Given the description of an element on the screen output the (x, y) to click on. 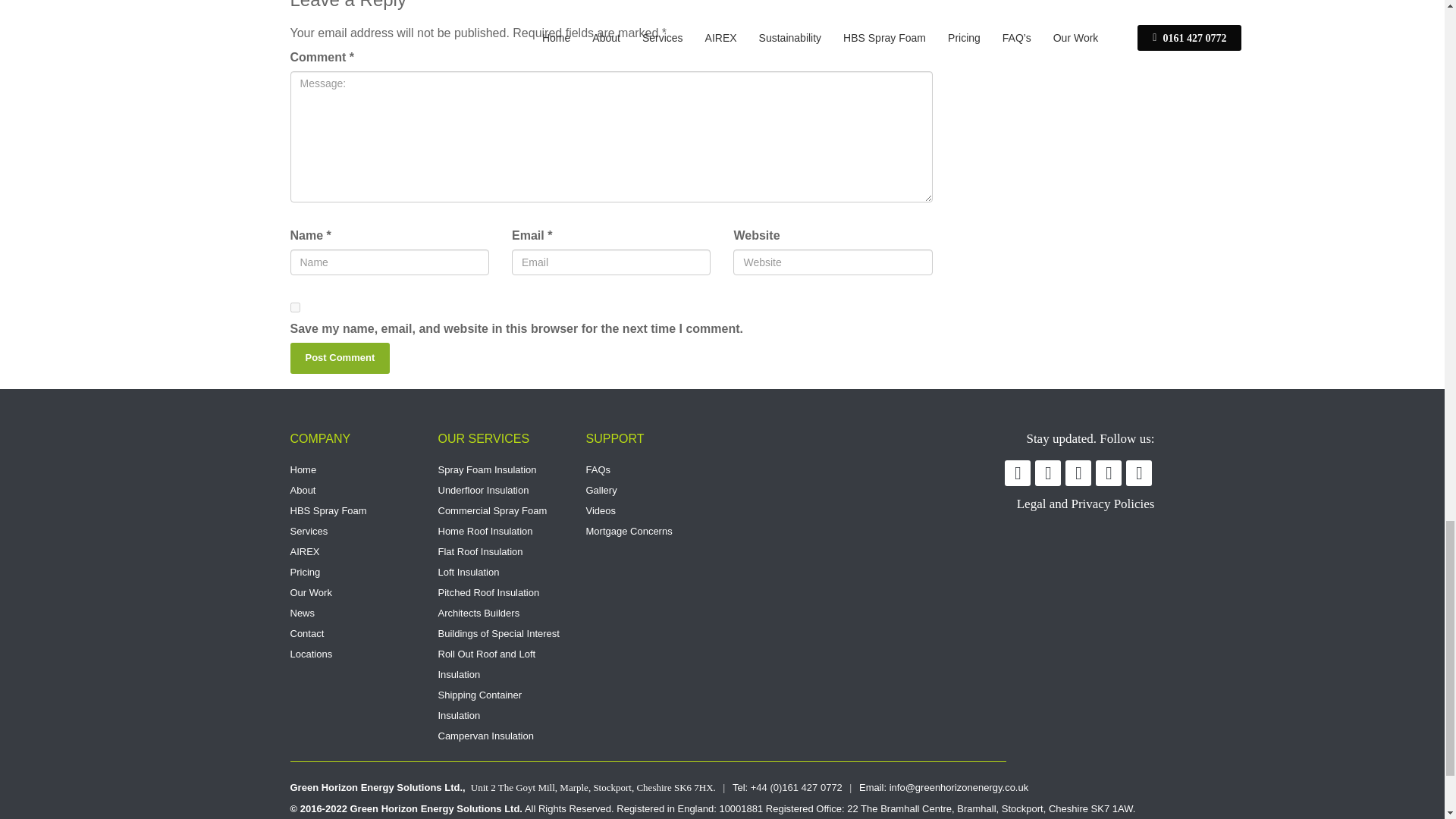
yes (294, 307)
YouTube (1108, 473)
Linkedin (1048, 473)
Twitter (1017, 473)
instragram (647, 499)
Post Comment (1077, 473)
Facebook (339, 358)
